Given the description of an element on the screen output the (x, y) to click on. 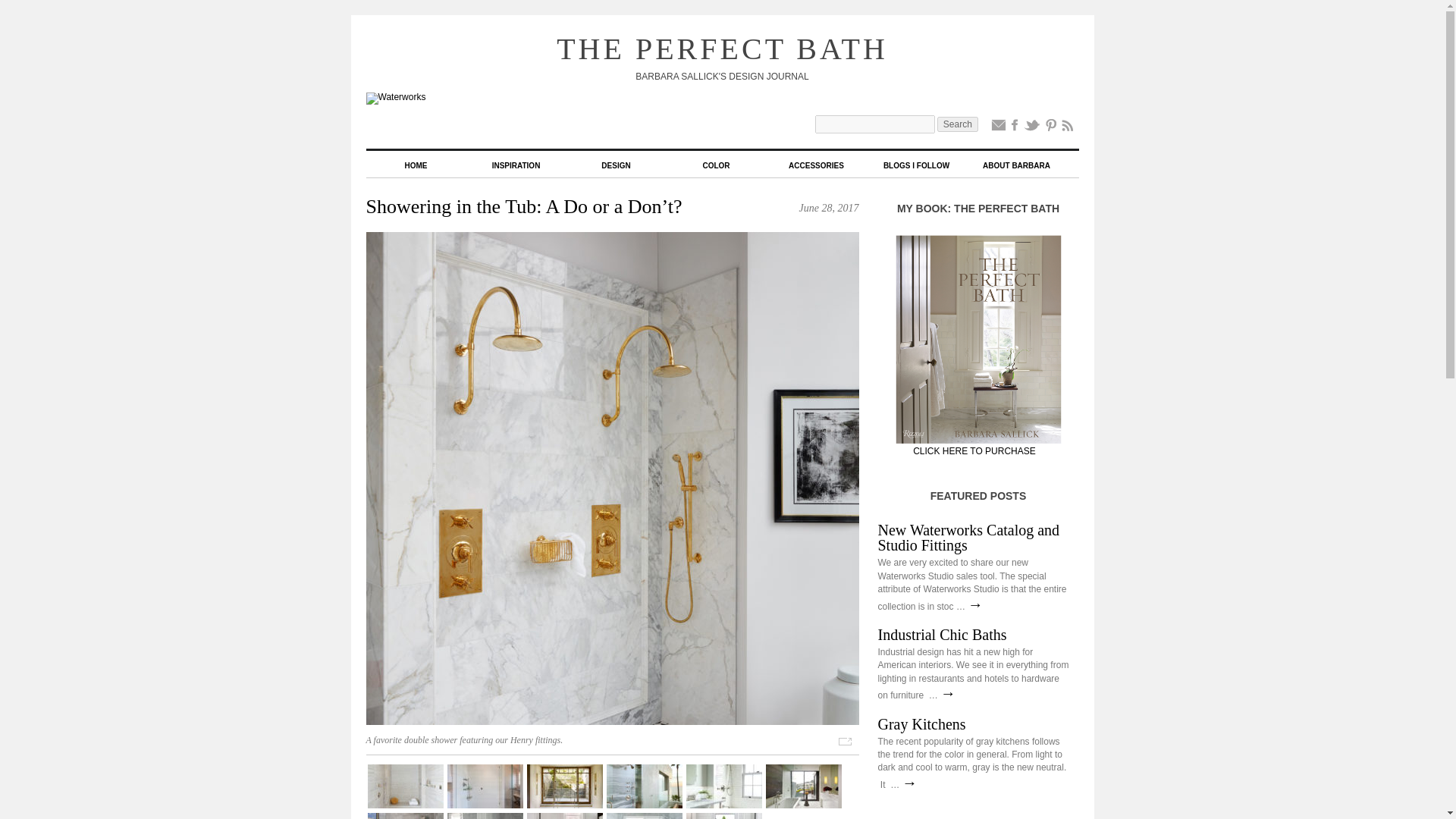
Share on Facebook (1014, 127)
The Perfect Bath (721, 49)
Email (998, 127)
BLOGS I FOLLOW (916, 165)
THE PERFECT BATH (721, 49)
RSS (1067, 127)
COLOR (715, 165)
ACCESSORIES (815, 165)
INSPIRATION (515, 165)
ABOUT BARBARA (1015, 165)
Search (957, 124)
Pinterest (1051, 127)
DESIGN (615, 165)
Search (957, 124)
HOME (415, 165)
